Given the description of an element on the screen output the (x, y) to click on. 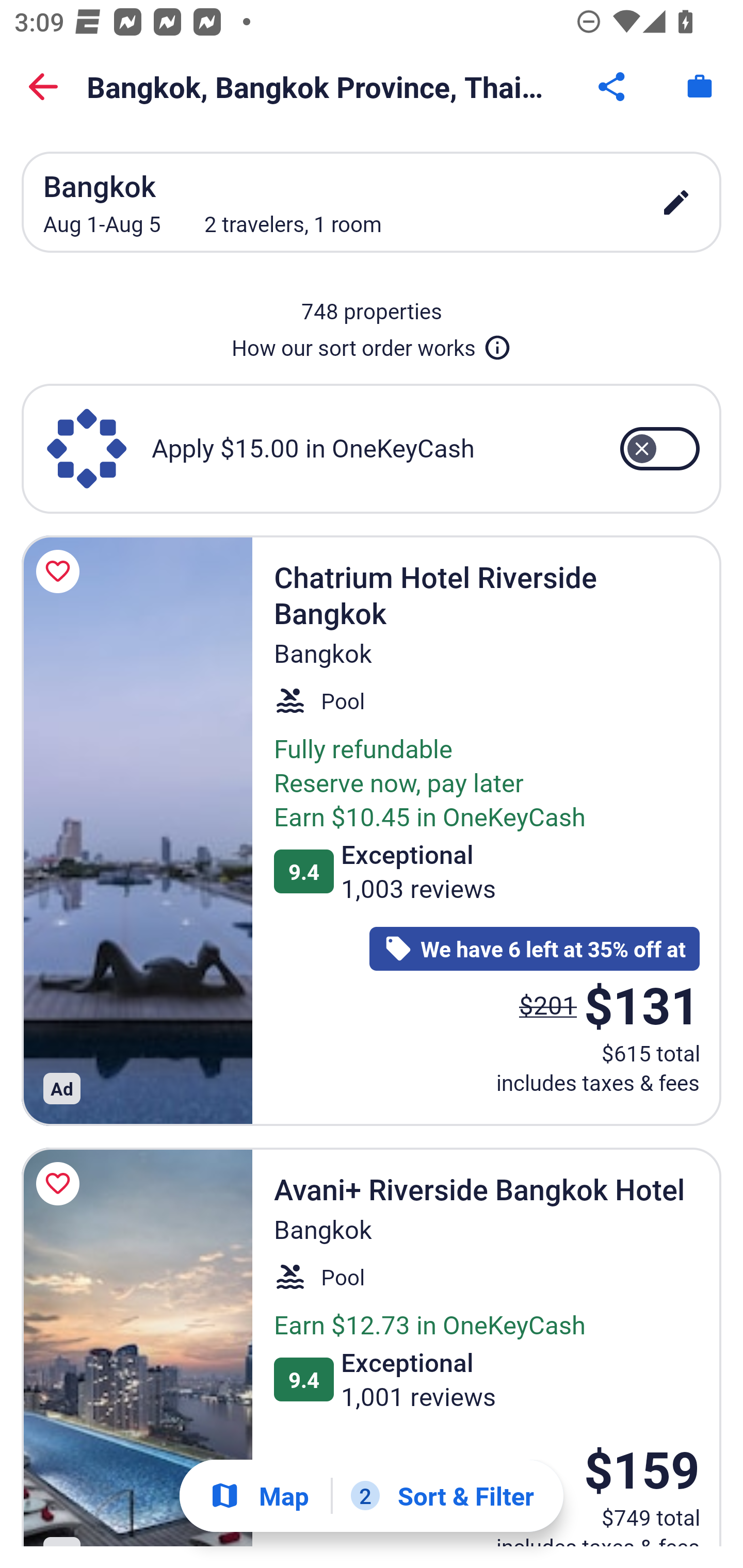
Back (43, 86)
Share Button (612, 86)
Trips. Button (699, 86)
Bangkok Aug 1-Aug 5 2 travelers, 1 room edit (371, 202)
How our sort order works (371, 344)
Save Chatrium Hotel Riverside Bangkok to a trip (61, 571)
Chatrium Hotel Riverside Bangkok (136, 829)
$201 The price was $201 (547, 1004)
Save Avani+ Riverside Bangkok Hotel to a trip (61, 1183)
Avani+ Riverside Bangkok Hotel (136, 1346)
2 Sort & Filter 2 Filters applied. Filters Button (442, 1495)
Show map Map Show map Button (258, 1495)
